Given the description of an element on the screen output the (x, y) to click on. 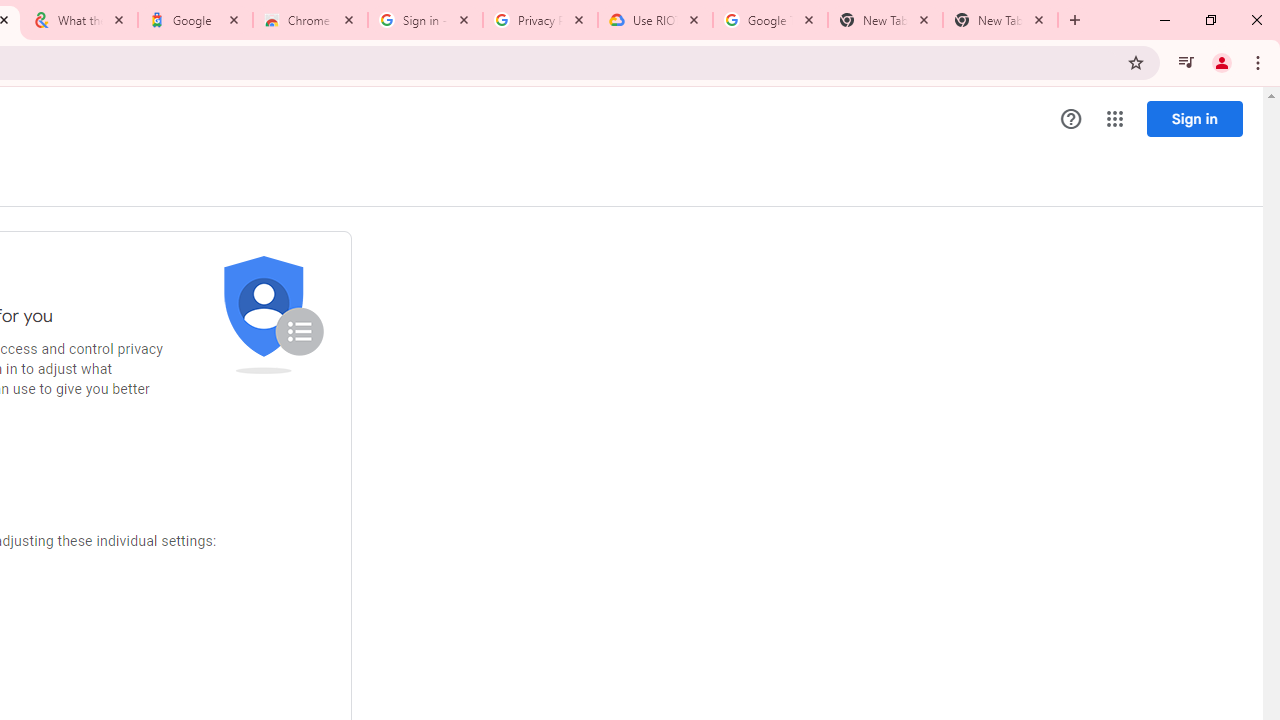
Google (195, 20)
